Given the description of an element on the screen output the (x, y) to click on. 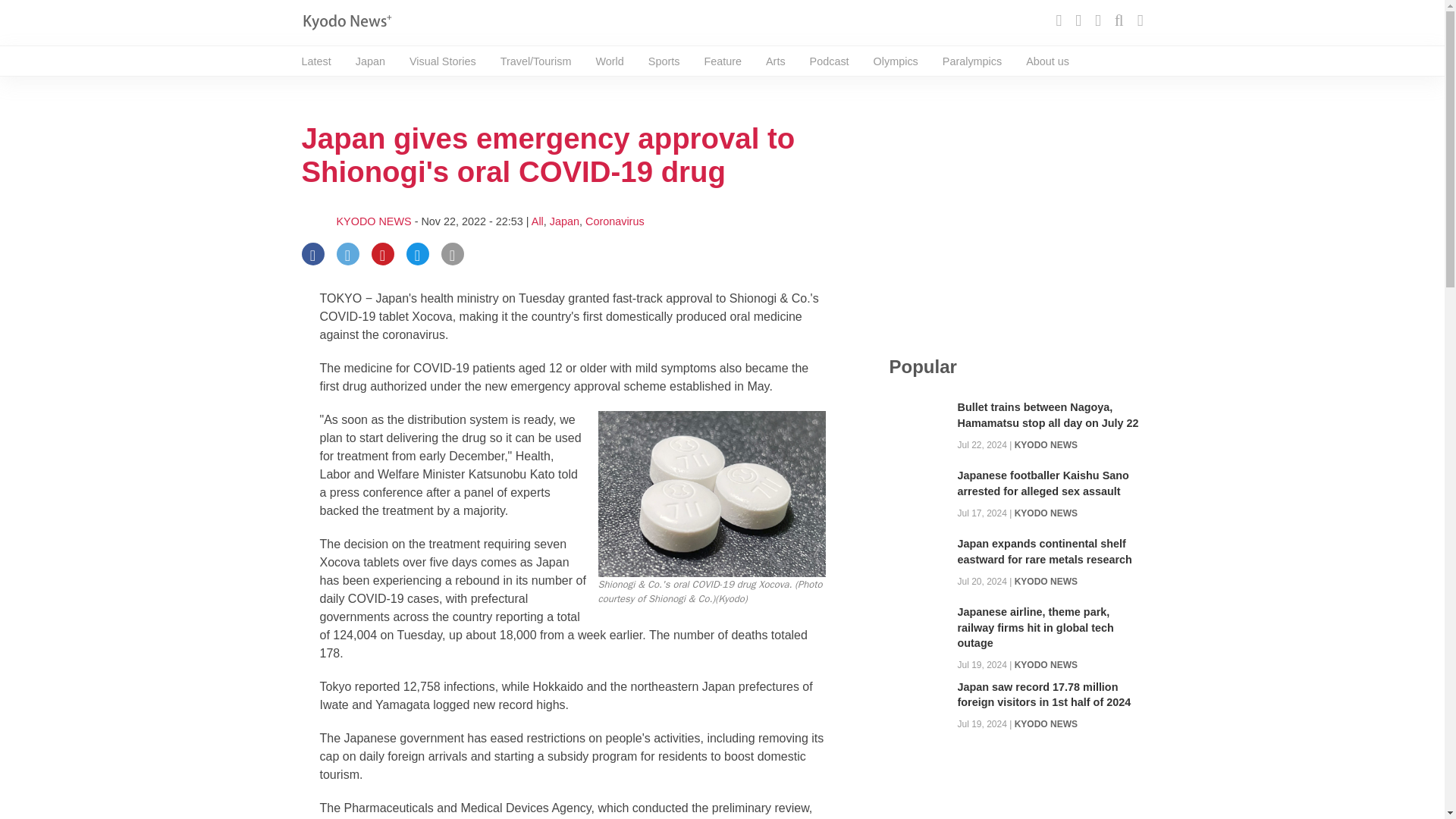
All (537, 221)
Japan (564, 221)
Feature (722, 61)
Olympics (895, 61)
Visual Stories (442, 61)
About us (1047, 61)
Sports (663, 61)
Coronavirus (615, 221)
Japan (370, 61)
Latest (316, 61)
Advertisement (1015, 217)
Podcast (828, 61)
KYODO NEWS (374, 221)
Paralympics (971, 61)
